Given the description of an element on the screen output the (x, y) to click on. 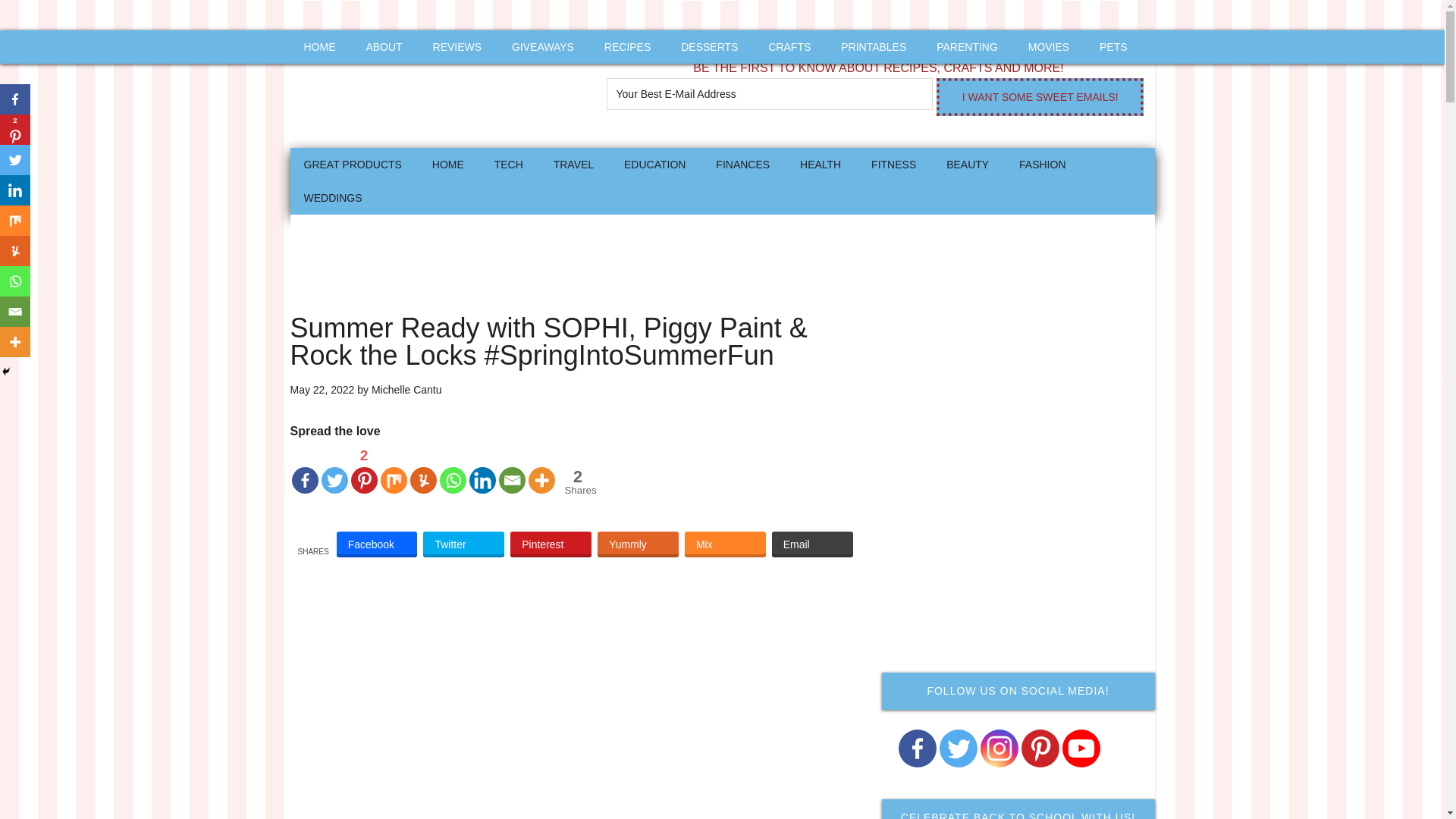
FITNESS (893, 164)
PRINTABLES (873, 46)
HOME (319, 46)
Home (448, 164)
WEDDINGS (332, 197)
MOVIES (1048, 46)
Total Shares (577, 481)
BEAUTY (968, 164)
I want some Sweet Emails! (1039, 96)
TRAVEL (573, 164)
ABOUT (383, 46)
PARENTING (967, 46)
FASHION (1042, 164)
Facebook (376, 544)
HEALTH (820, 164)
